Given the description of an element on the screen output the (x, y) to click on. 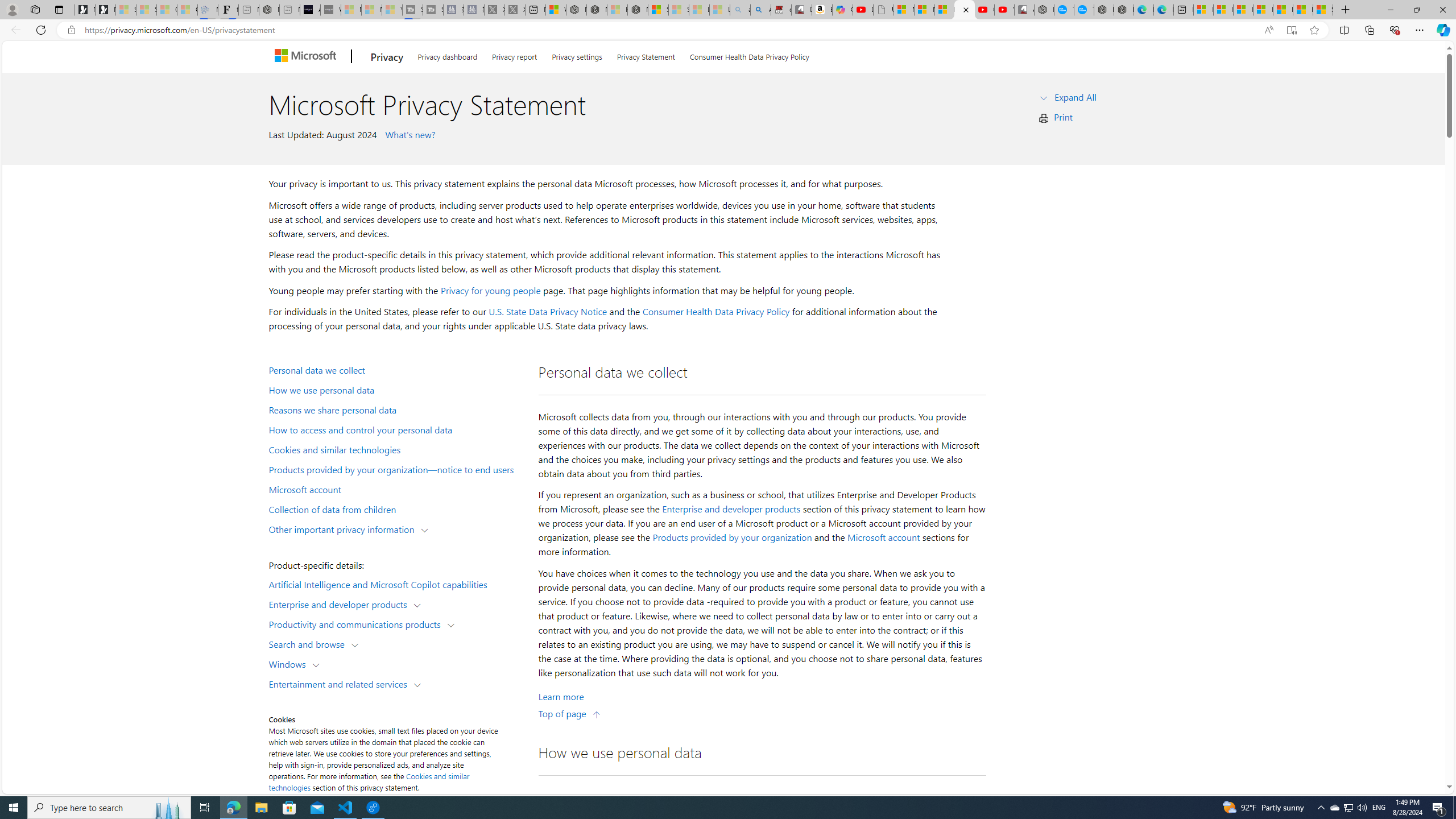
Enterprise and developer products (731, 508)
Productivity and communications products (356, 623)
Windows (289, 663)
Search and browse (308, 643)
Privacy (386, 56)
Enterprise and developer products (340, 603)
Amazon Echo Dot PNG - Search Images (760, 9)
Privacy for young people (489, 290)
